Given the description of an element on the screen output the (x, y) to click on. 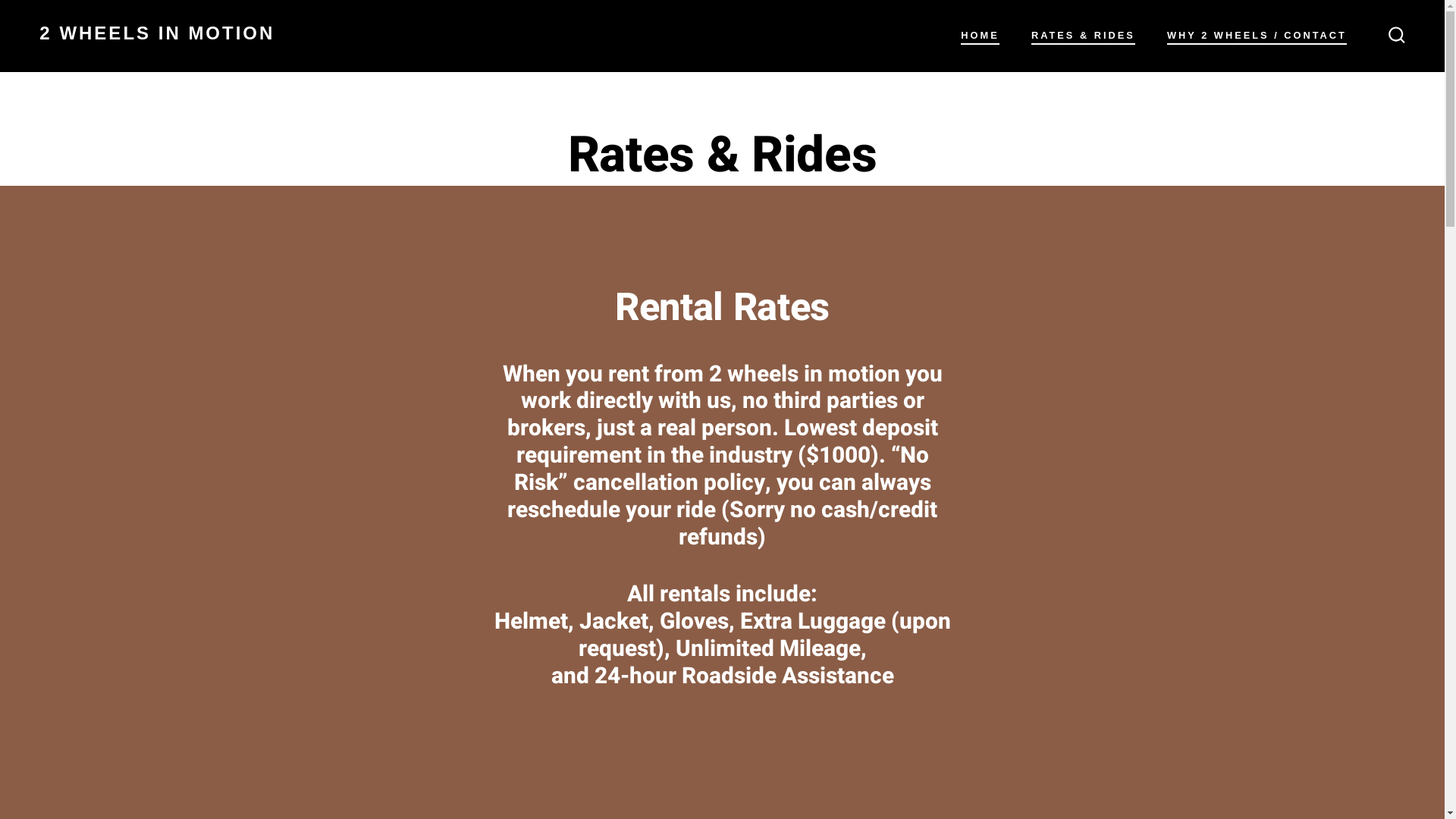
SEARCH TOGGLE Element type: text (1396, 35)
2 WHEELS IN MOTION Element type: text (156, 35)
RATES & RIDES Element type: text (1083, 36)
HOME Element type: text (979, 36)
WHY 2 WHEELS / CONTACT Element type: text (1256, 36)
